Given the description of an element on the screen output the (x, y) to click on. 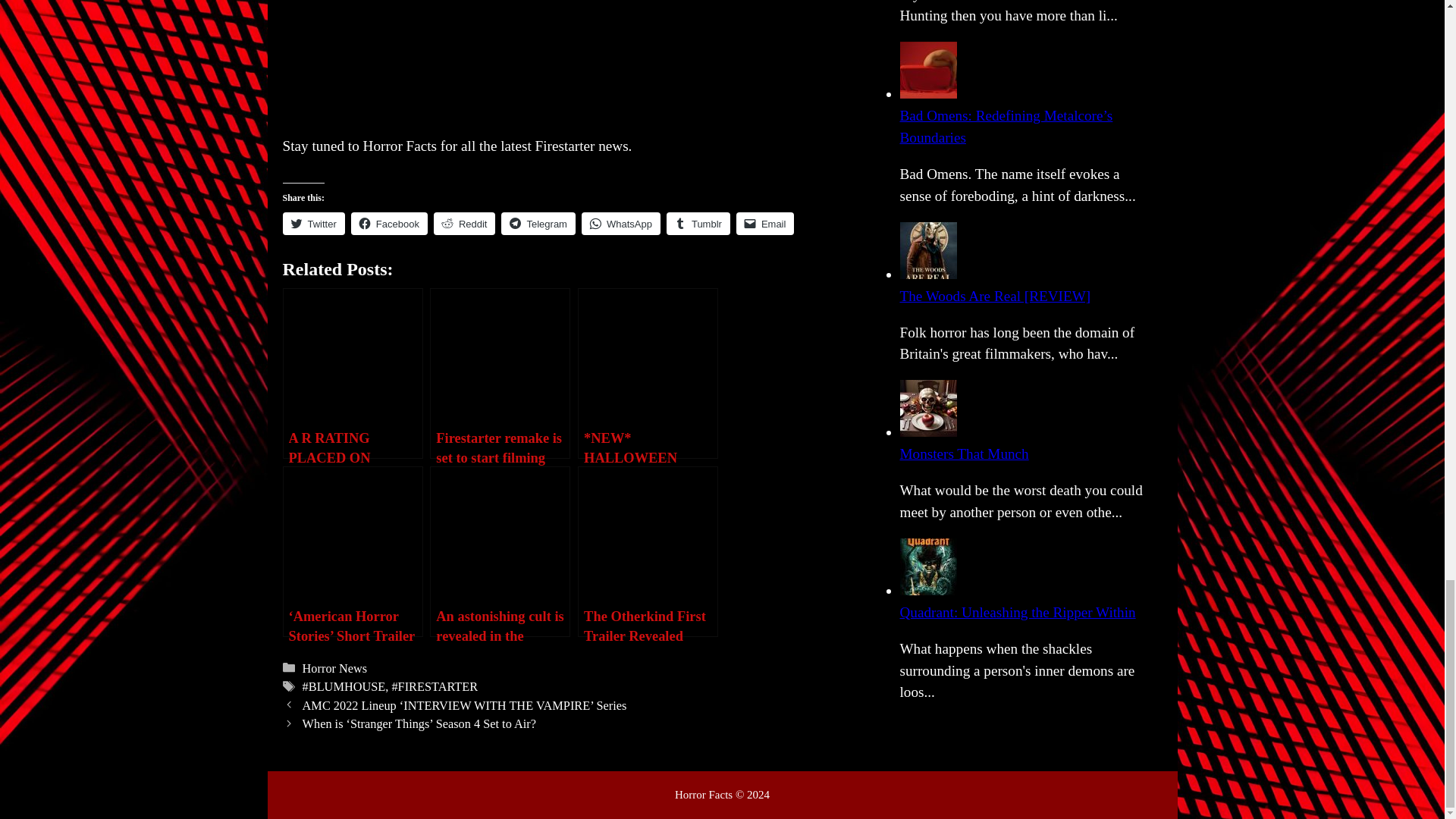
Click to share on Facebook (389, 223)
Click to share on Twitter (312, 223)
Click to share on Reddit (464, 223)
Click to share on WhatsApp (620, 223)
Click to email a link to a friend (765, 223)
Click to share on Telegram (537, 223)
Click to share on Tumblr (698, 223)
